Given the description of an element on the screen output the (x, y) to click on. 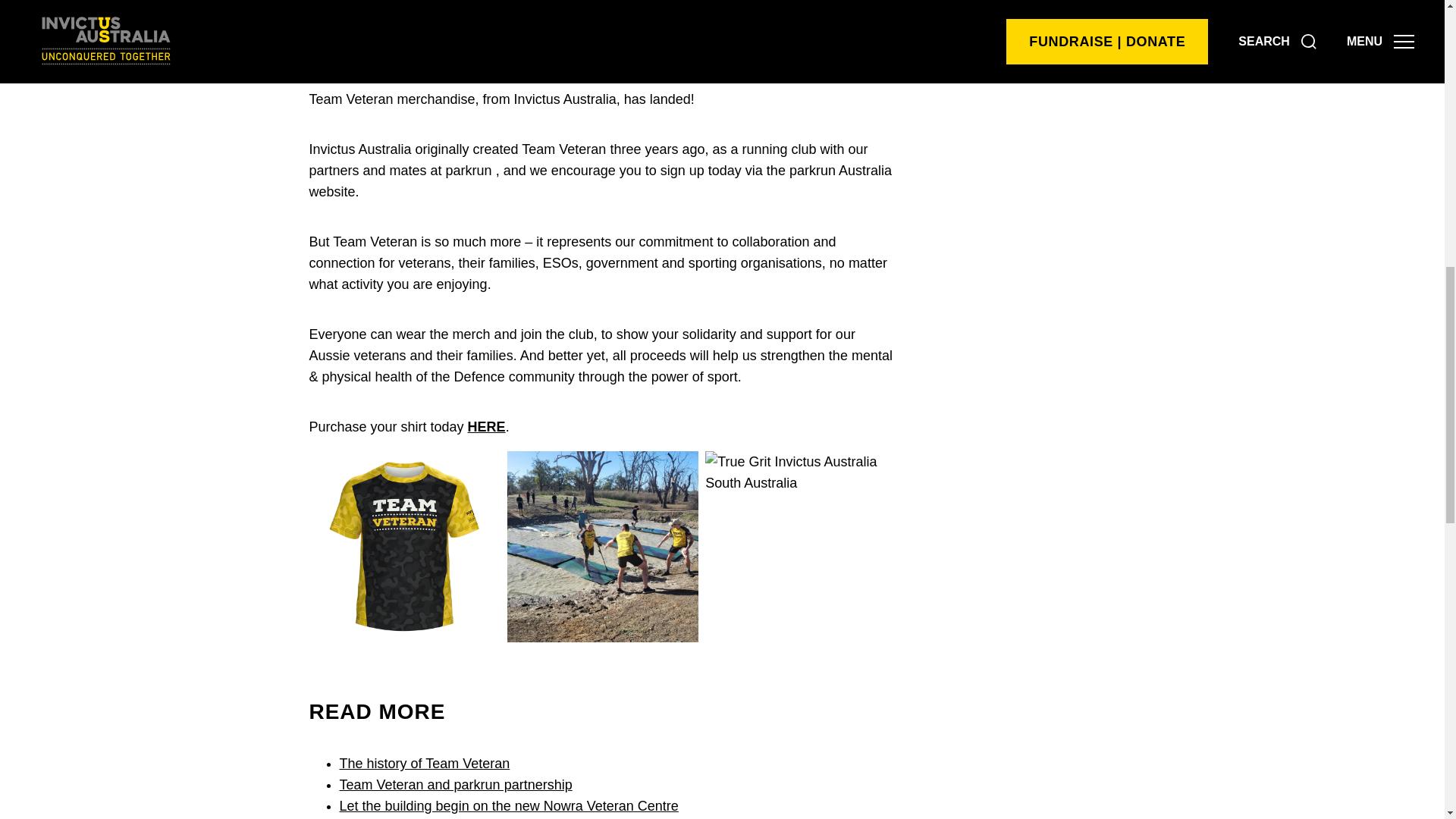
Let the building begin on the new Nowra Veteran Centre (508, 806)
Team Veteran and parkrun partnership (455, 784)
